Given the description of an element on the screen output the (x, y) to click on. 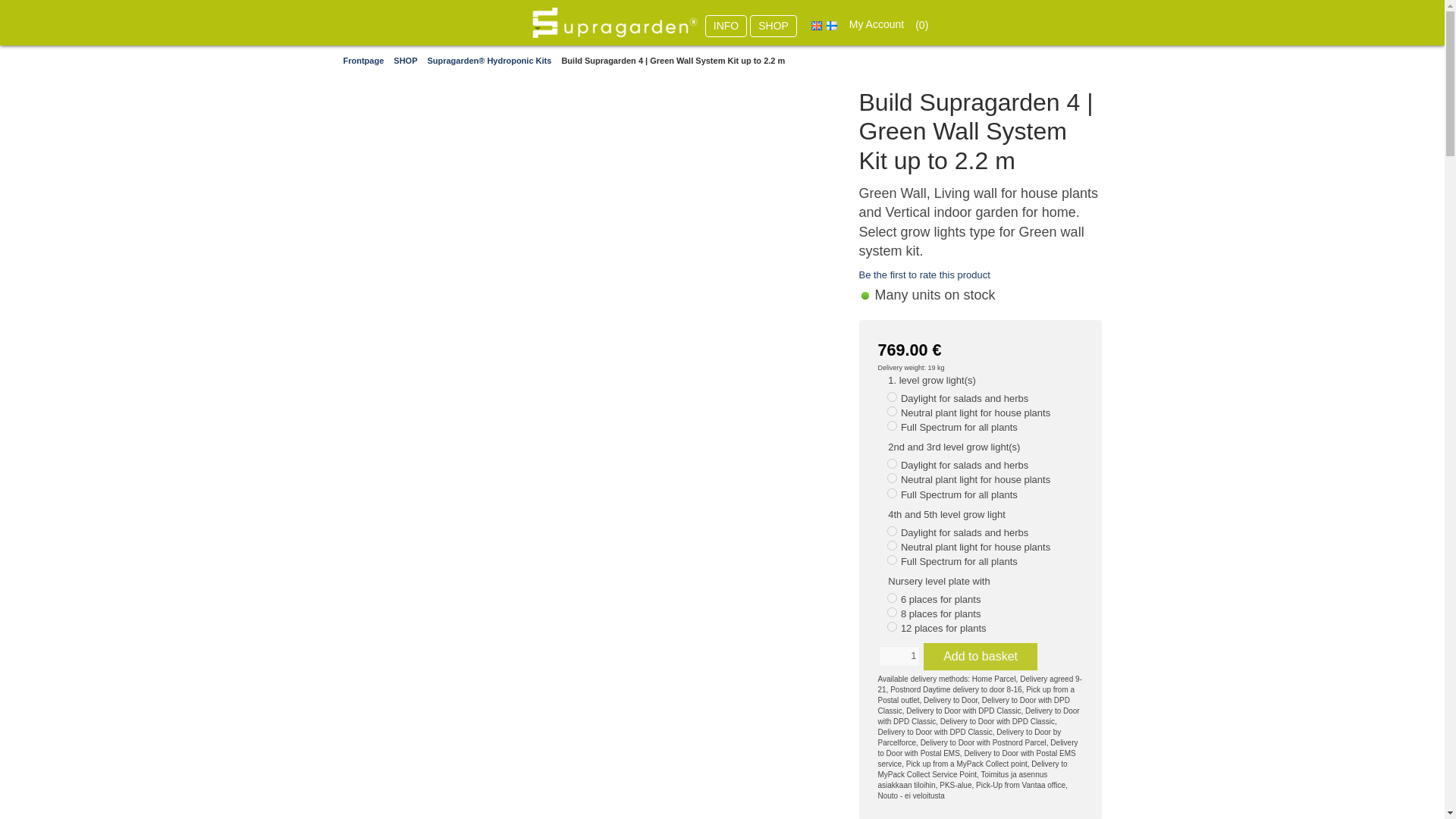
106085598 (891, 612)
106083303 (891, 411)
106083414 (891, 560)
INFO (725, 25)
106083301 (891, 397)
Neutral plant light for house plants (975, 479)
SHOP (772, 25)
Full Spectrum for all plants (959, 561)
Add to basket (979, 656)
12 places for plants (944, 627)
1 (897, 655)
106083304 (891, 425)
Daylight for salads and herbs (964, 398)
6 places for plants (941, 599)
106085590 (891, 597)
